Given the description of an element on the screen output the (x, y) to click on. 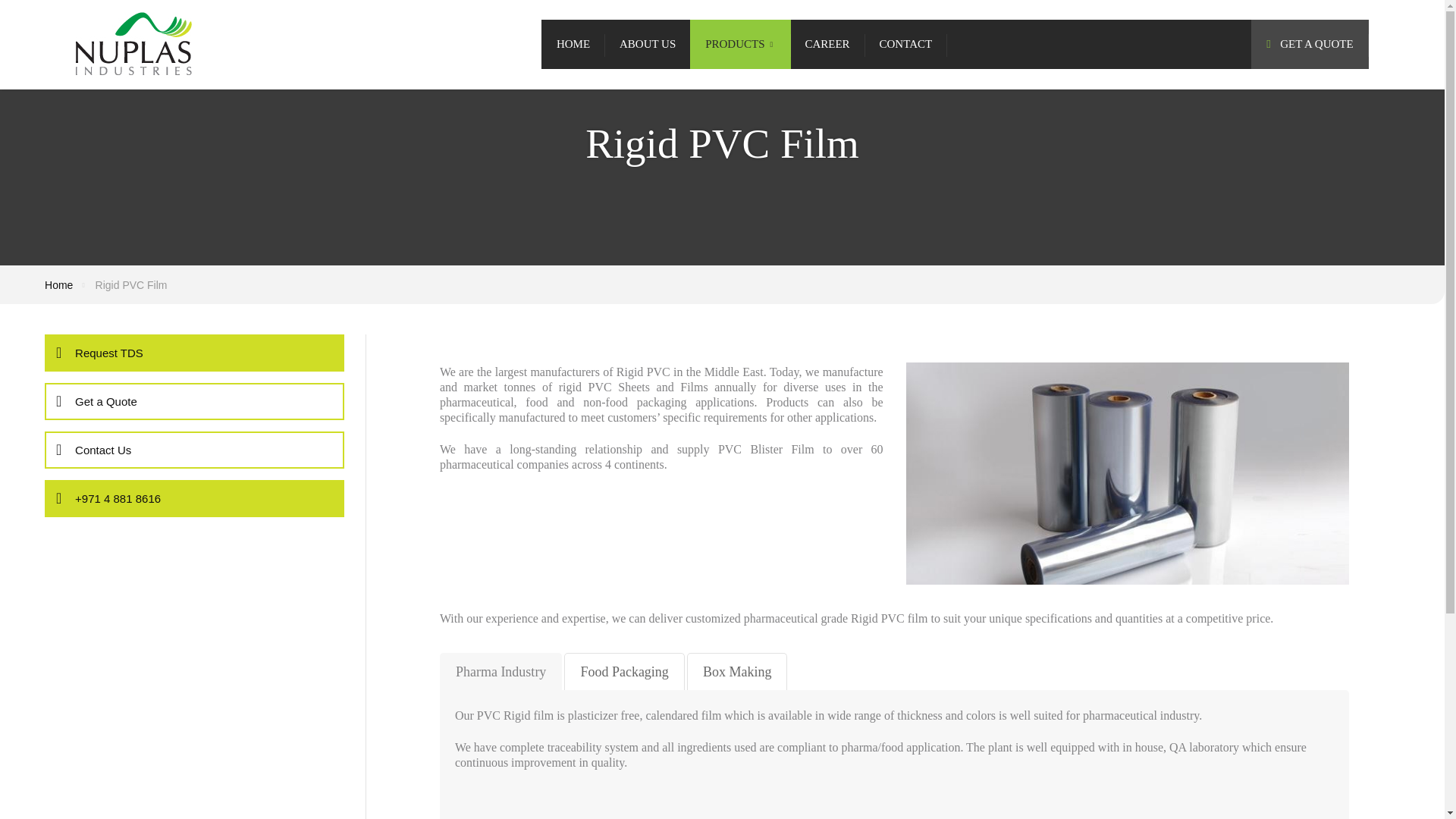
ABOUT US (647, 43)
HOME (573, 43)
CAREER (826, 43)
GET A QUOTE (1309, 43)
CONTACT (905, 43)
PRODUCTS (740, 43)
